Given the description of an element on the screen output the (x, y) to click on. 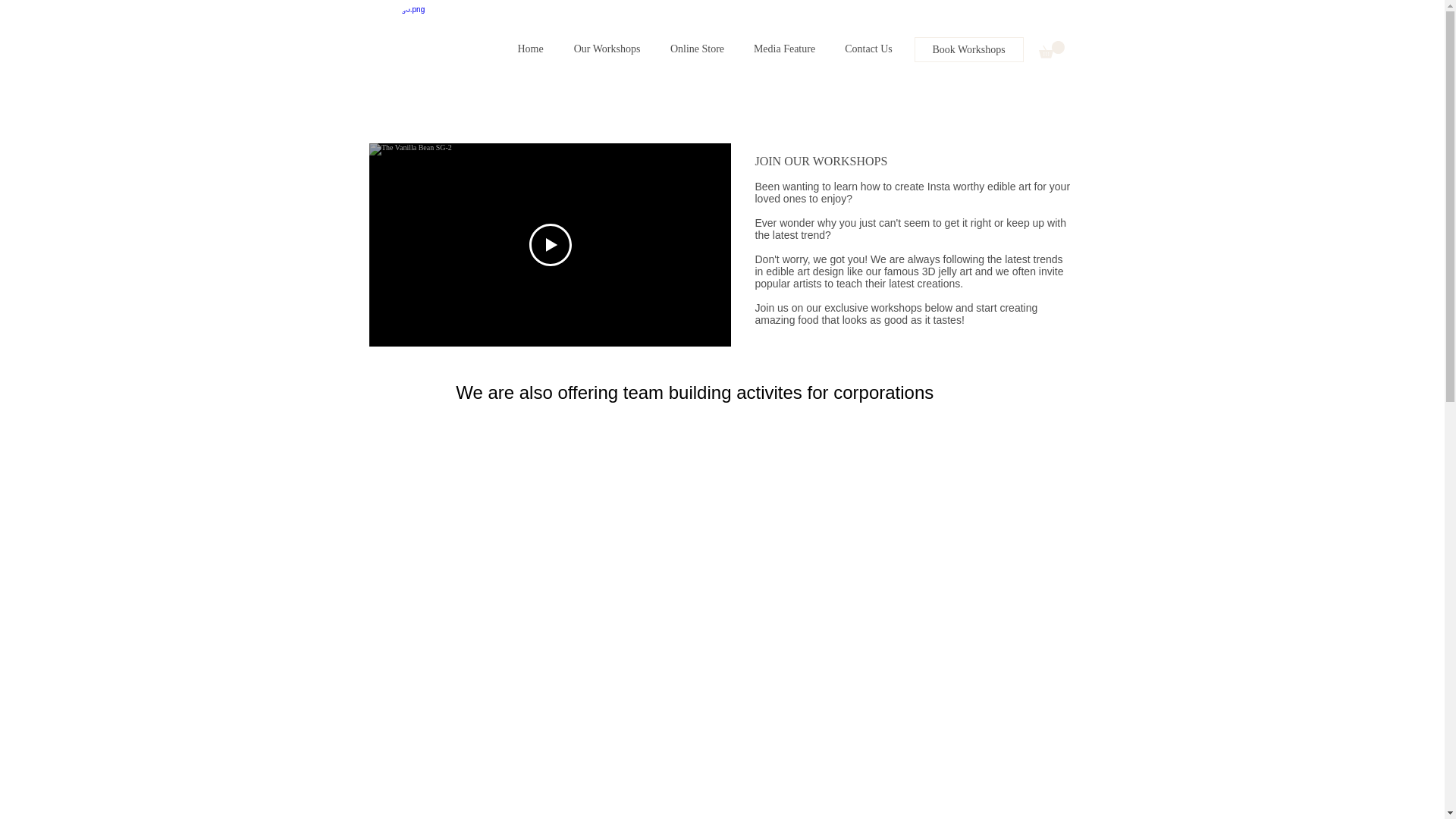
Book Workshops (968, 49)
Media Feature (783, 48)
Contact Us (868, 48)
Online Store (696, 48)
Our Workshops (606, 48)
Home (529, 48)
